Given the description of an element on the screen output the (x, y) to click on. 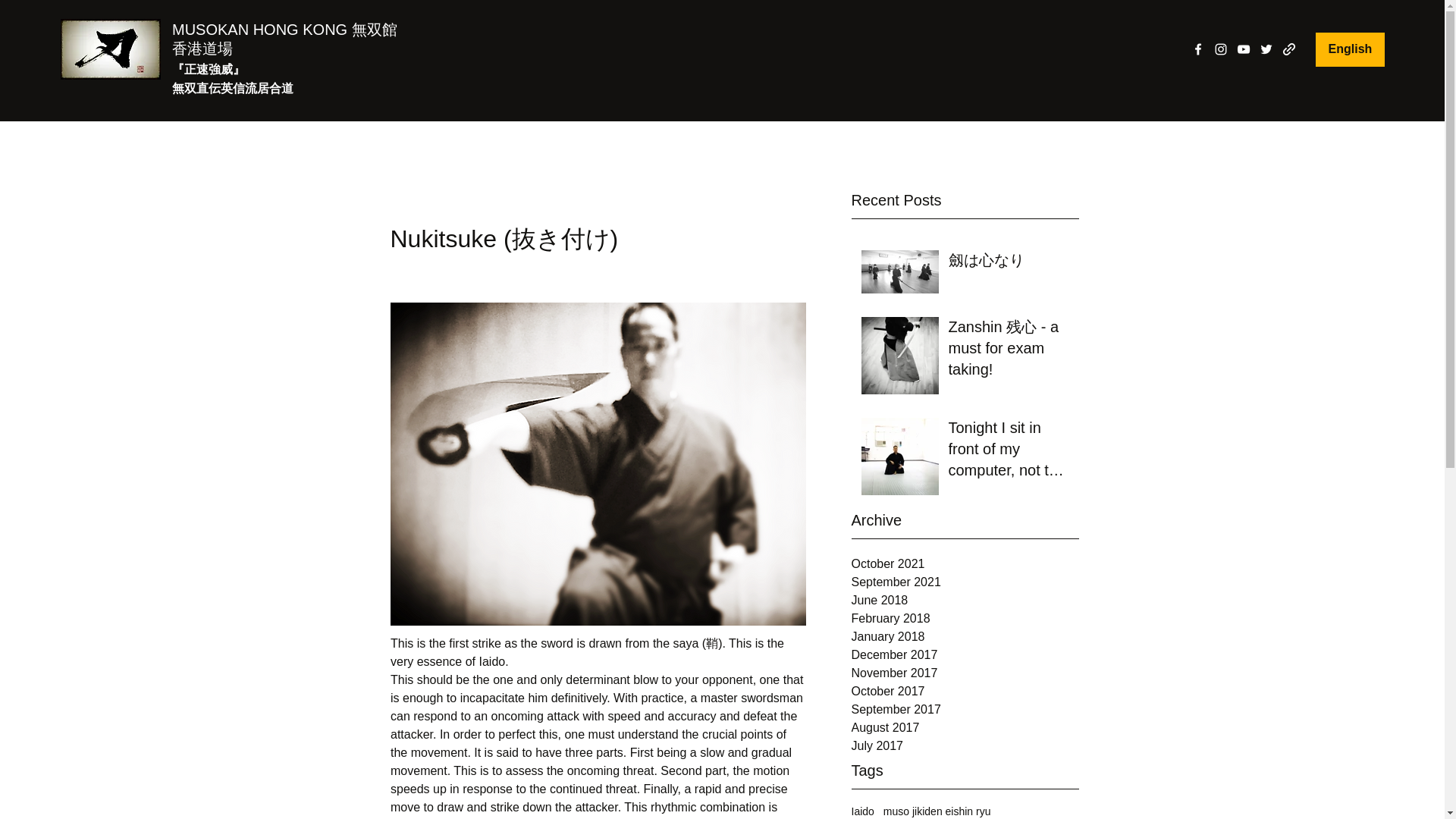
July 2017 (964, 746)
December 2017 (964, 655)
October 2021 (964, 564)
August 2017 (964, 728)
June 2018 (964, 600)
November 2017 (964, 673)
muso jikiden eishin ryu (937, 811)
October 2017 (964, 691)
September 2021 (964, 582)
February 2018 (964, 618)
January 2018 (964, 637)
Iaido (861, 811)
English (1350, 49)
September 2017 (964, 710)
